Given the description of an element on the screen output the (x, y) to click on. 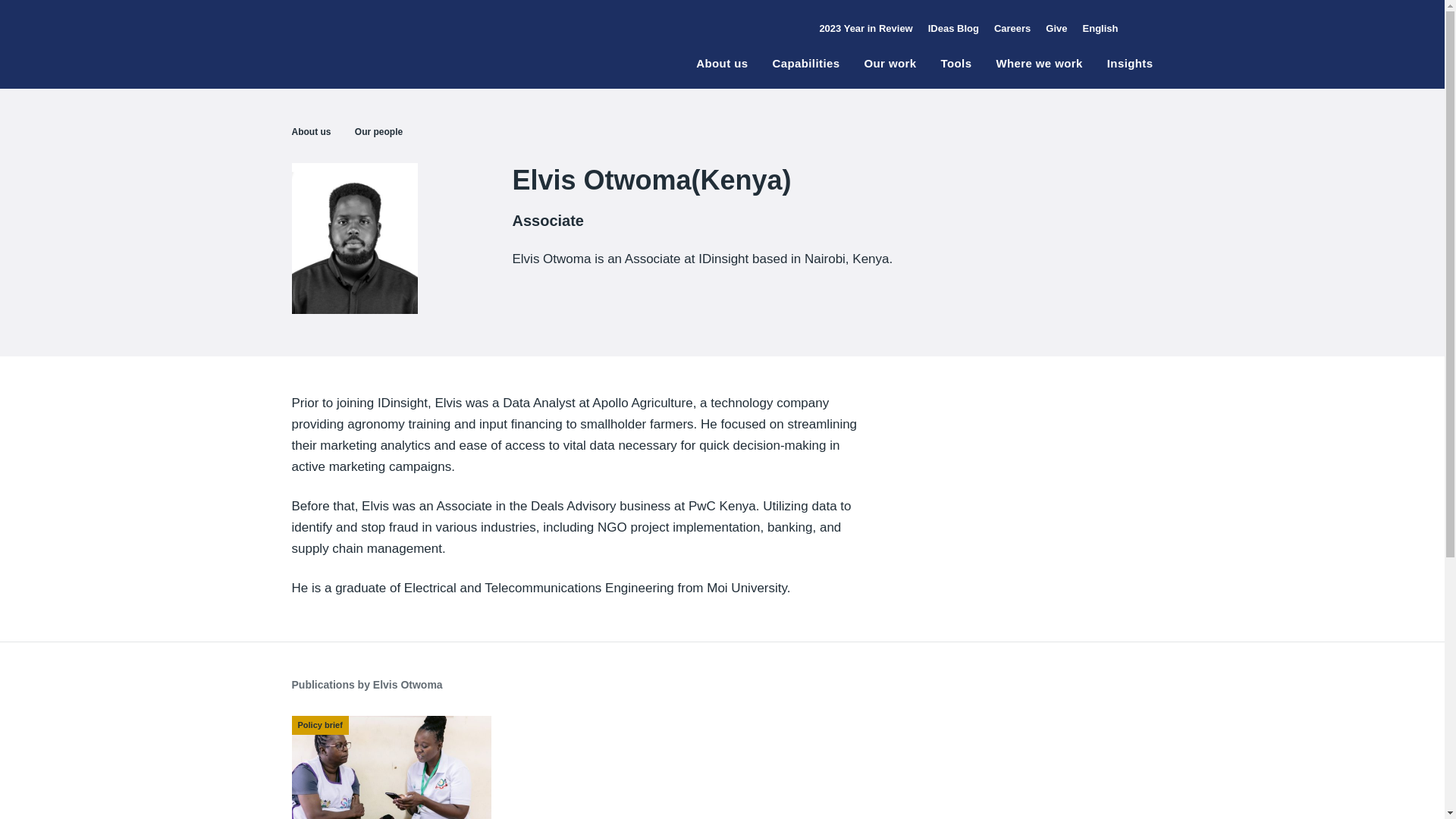
Our work (889, 72)
Access to Health Services: Kilifi County Case Study (390, 767)
Capabilities (805, 72)
About us (721, 72)
